Given the description of an element on the screen output the (x, y) to click on. 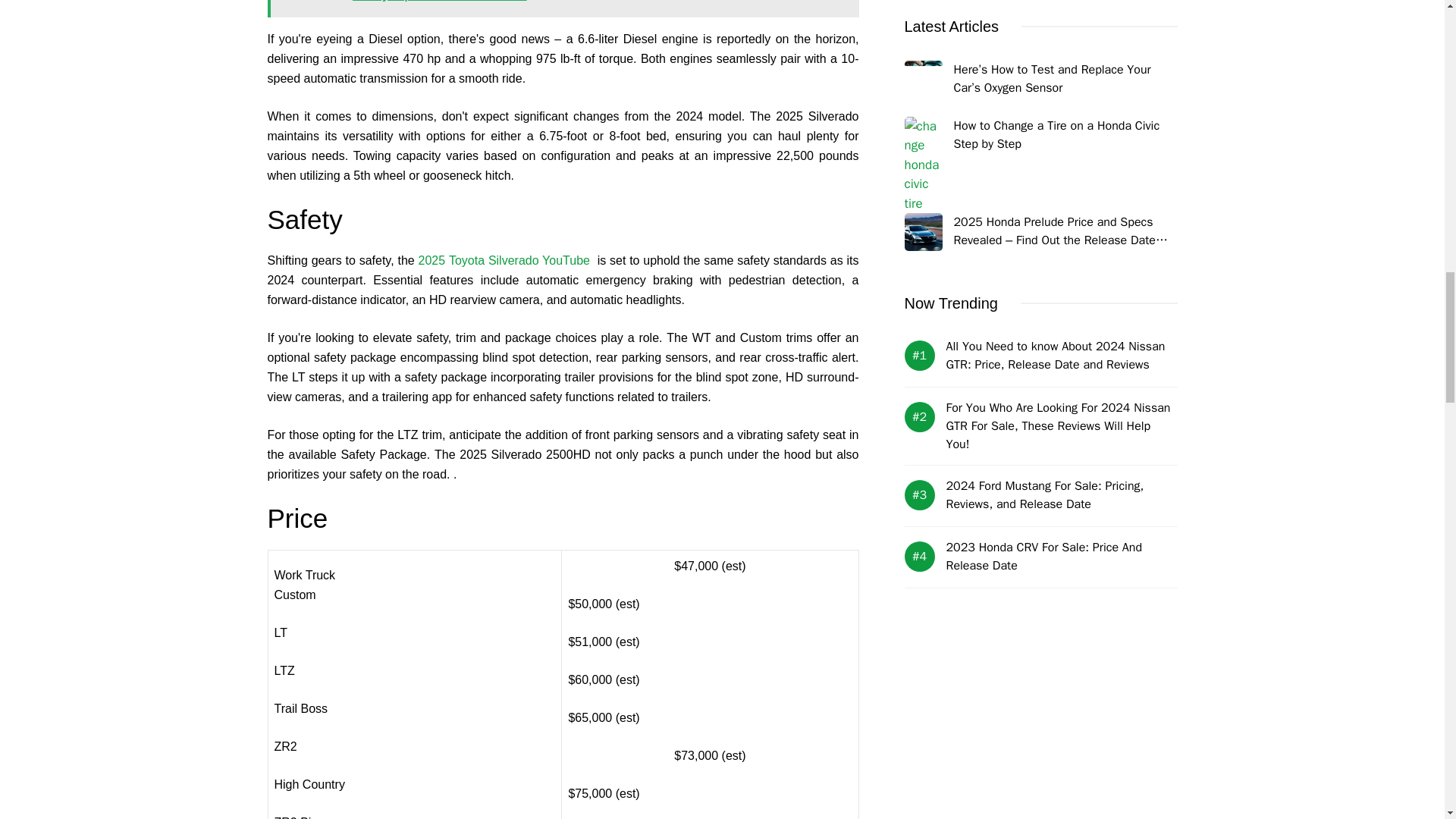
Also Read:  Chevy Equinox Years to Avoid (562, 8)
